Given the description of an element on the screen output the (x, y) to click on. 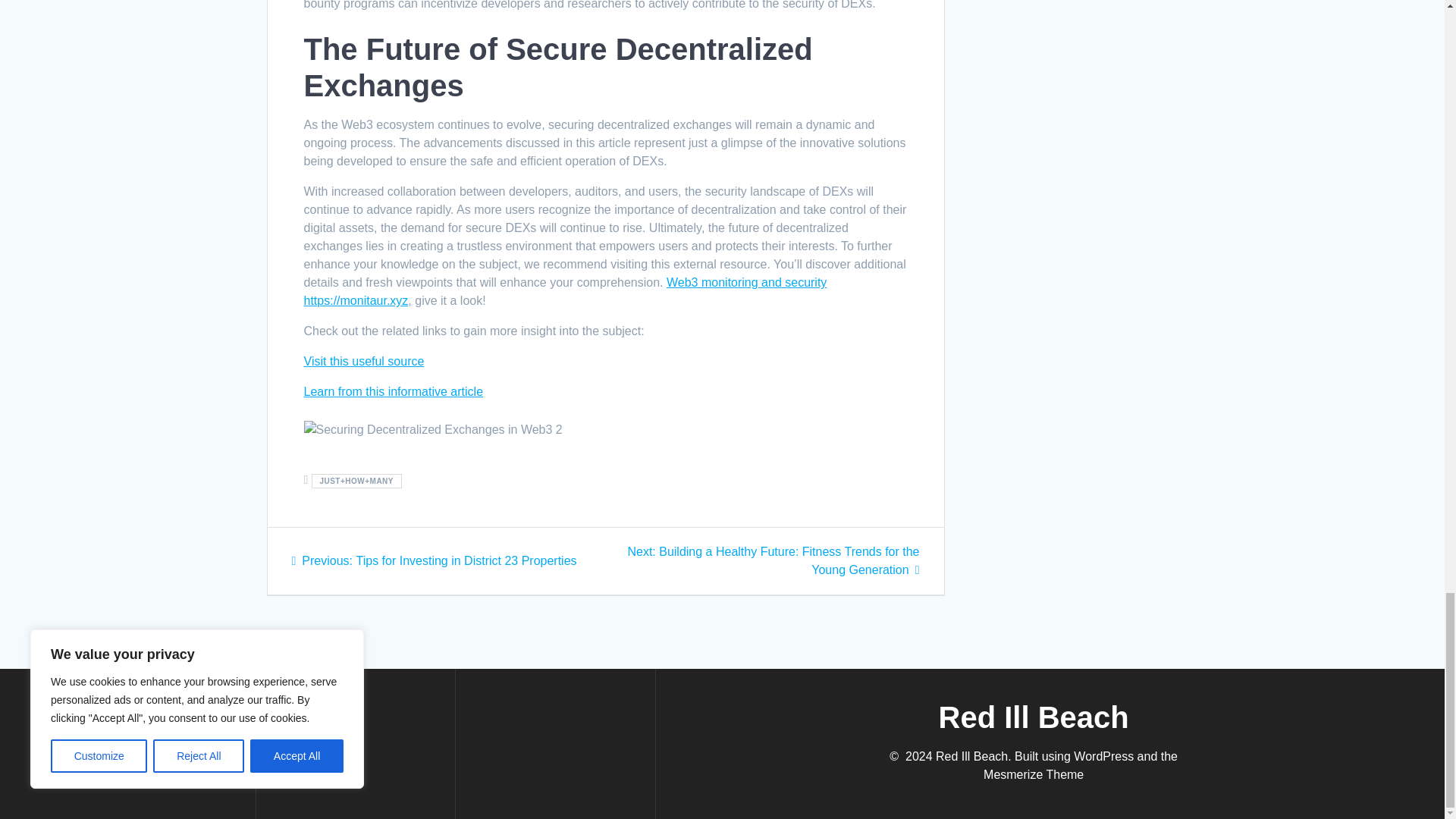
Learn from this informative article (392, 391)
Visit this useful source (362, 360)
